Given the description of an element on the screen output the (x, y) to click on. 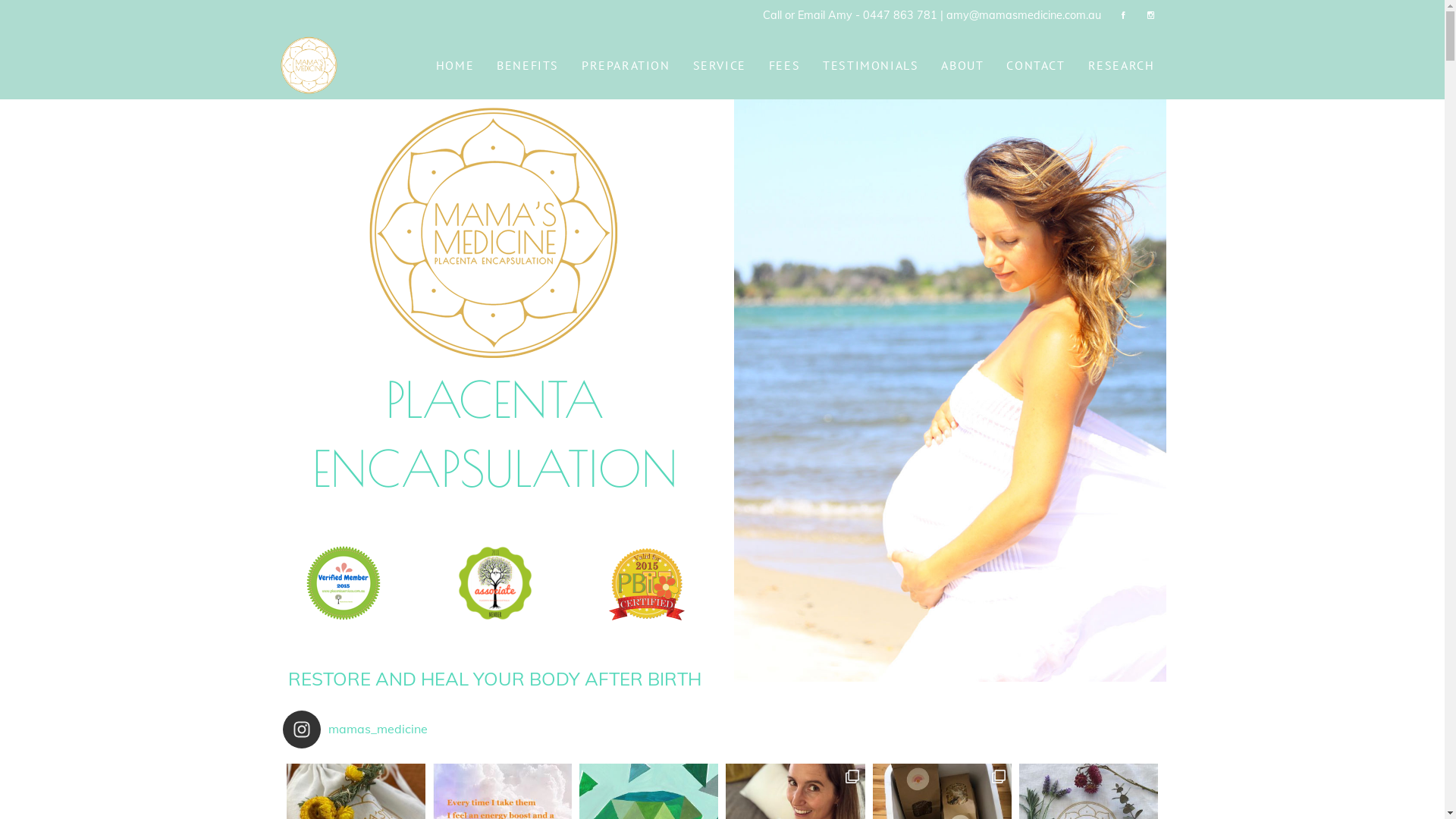
Sign up Element type: text (765, 435)
ABOUT Element type: text (962, 65)
CONTACT Element type: text (1035, 65)
FEES Element type: text (784, 65)
TESTIMONIALS Element type: text (870, 65)
PREPARATION Element type: text (625, 65)
Mama's Medicine Element type: hover (309, 65)
RESEARCH Element type: text (1121, 65)
SERVICE Element type: text (719, 65)
BENEFITS Element type: text (527, 65)
mamas_medicine Element type: text (373, 729)
HOME Element type: text (454, 65)
